Given the description of an element on the screen output the (x, y) to click on. 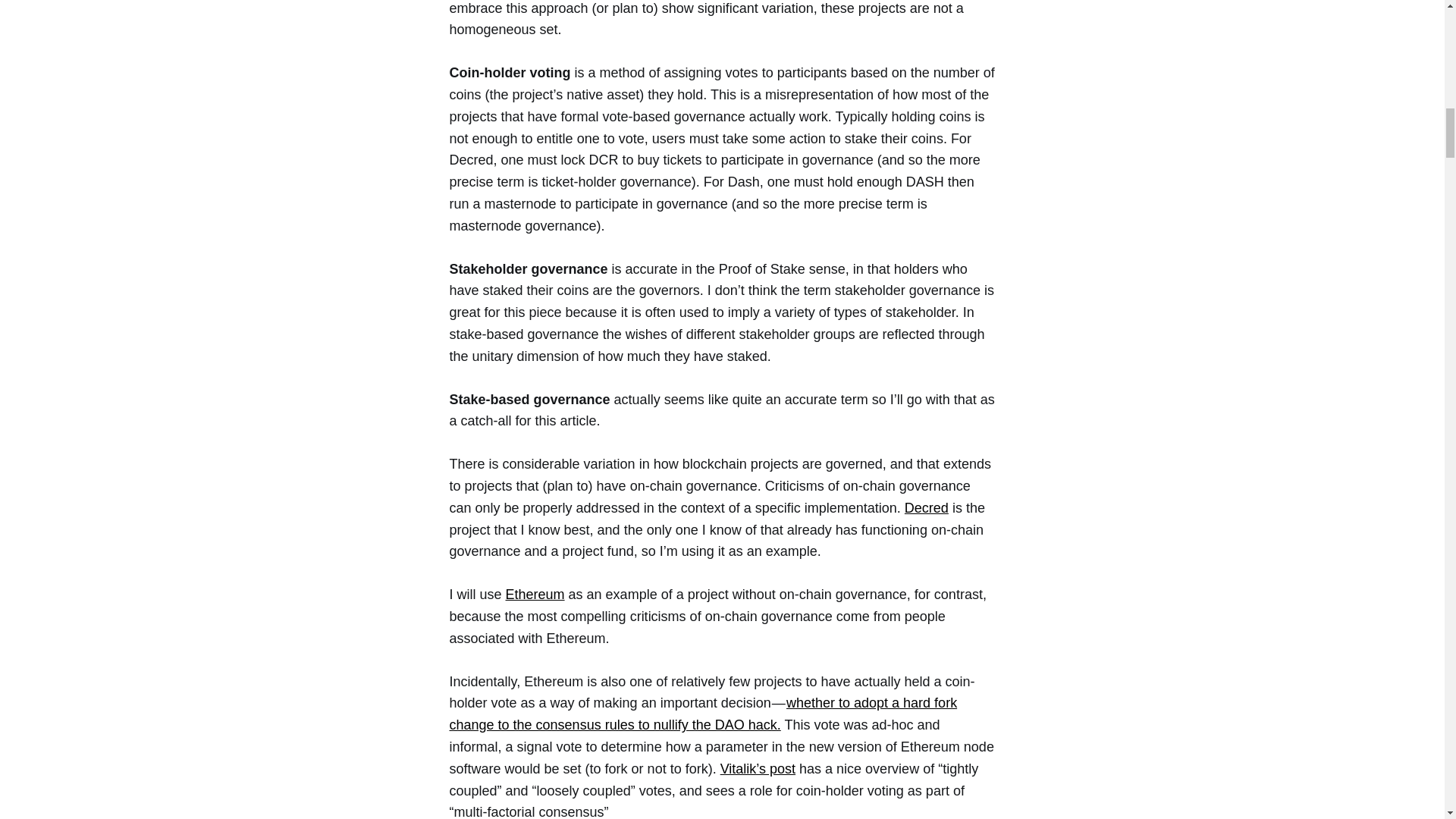
Decred (926, 507)
Ethereum (534, 594)
